Given the description of an element on the screen output the (x, y) to click on. 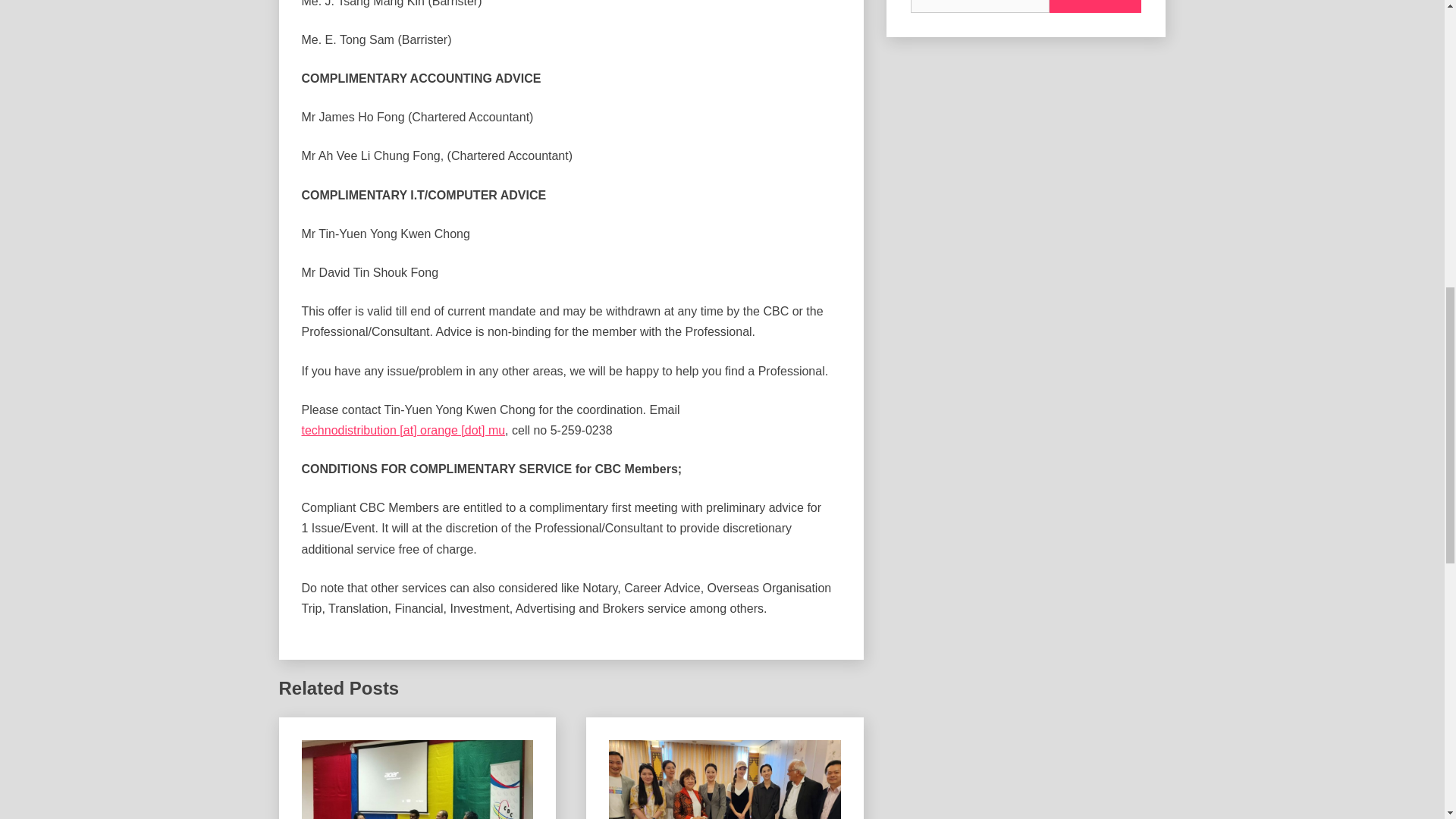
Search (1095, 6)
Search (1095, 6)
